Given the description of an element on the screen output the (x, y) to click on. 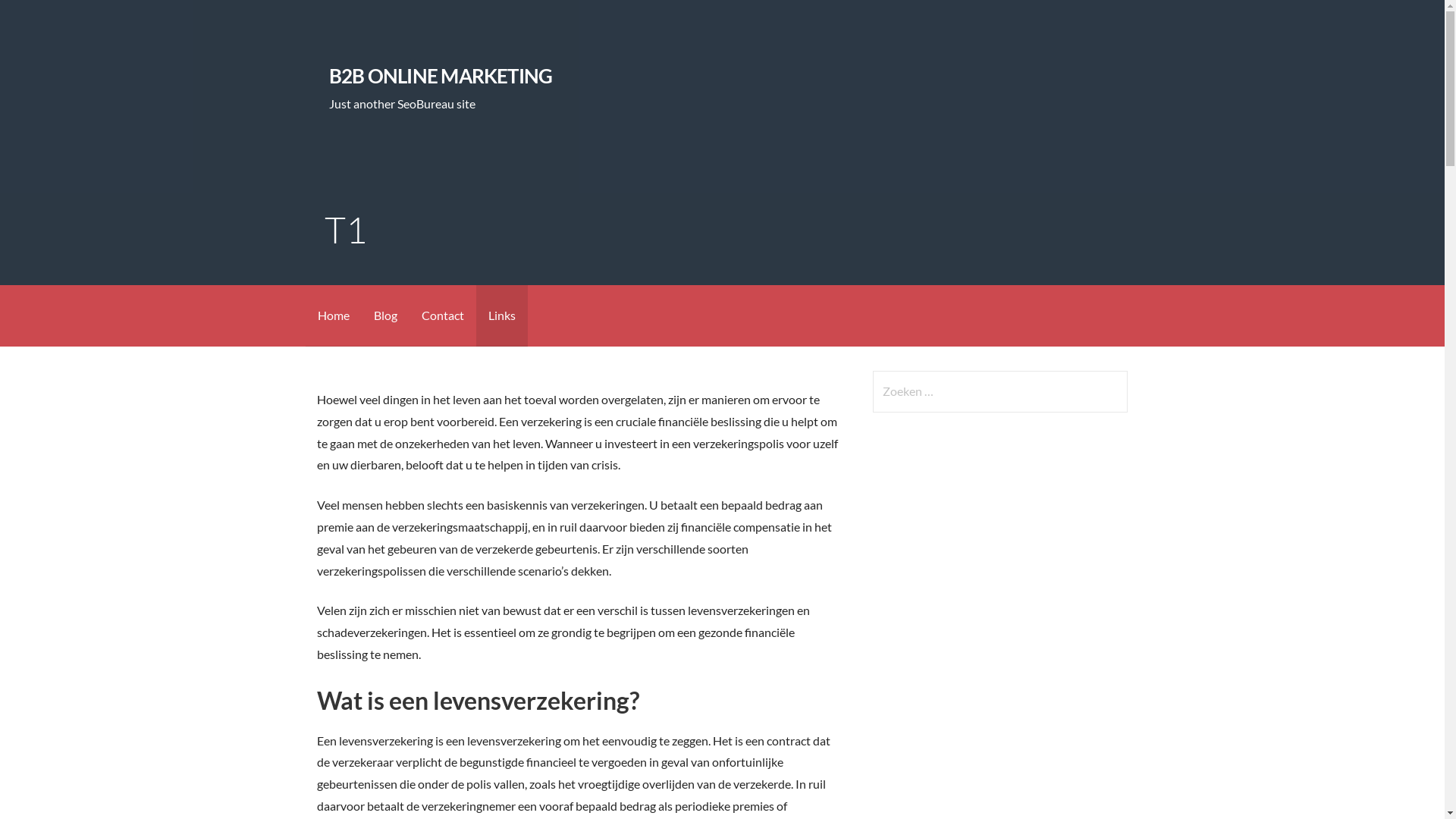
Blog Element type: text (384, 315)
B2B ONLINE MARKETING Element type: text (440, 75)
Zoeken Element type: text (42, 18)
Contact Element type: text (442, 315)
Home Element type: text (332, 315)
Links Element type: text (501, 315)
